Given the description of an element on the screen output the (x, y) to click on. 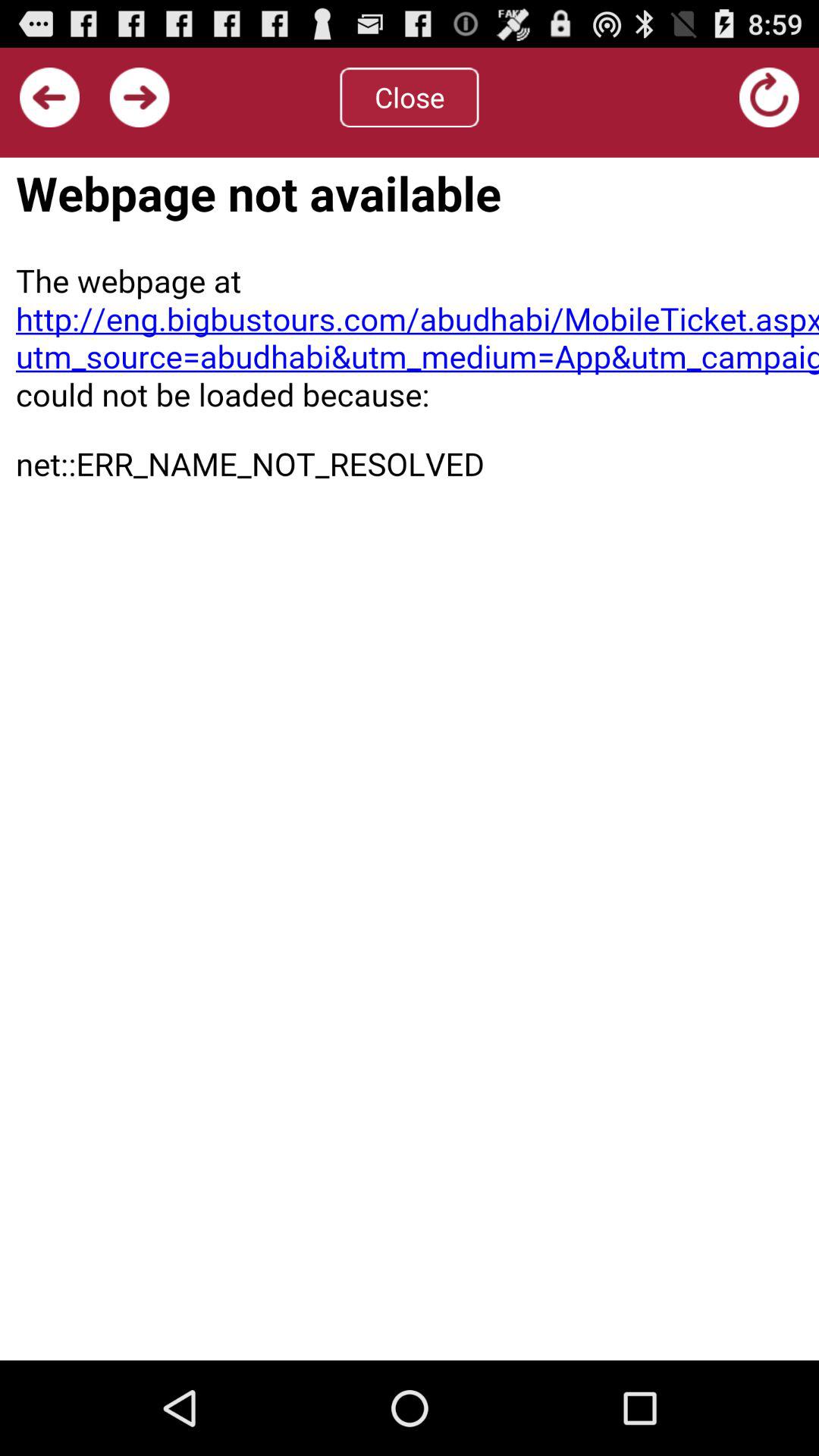
go to previous (49, 97)
